Given the description of an element on the screen output the (x, y) to click on. 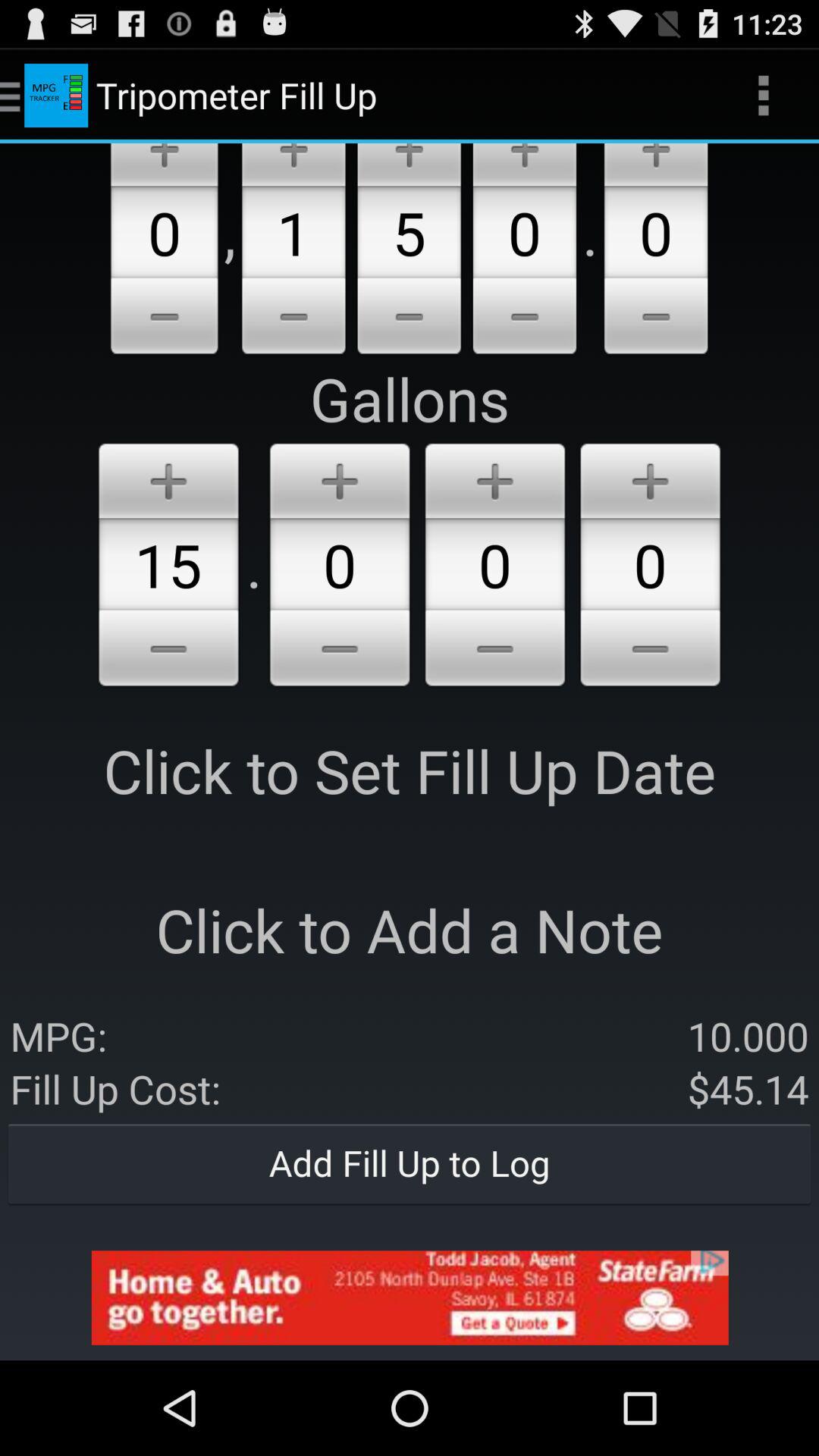
click the plus symbol to increase the value (339, 478)
